Given the description of an element on the screen output the (x, y) to click on. 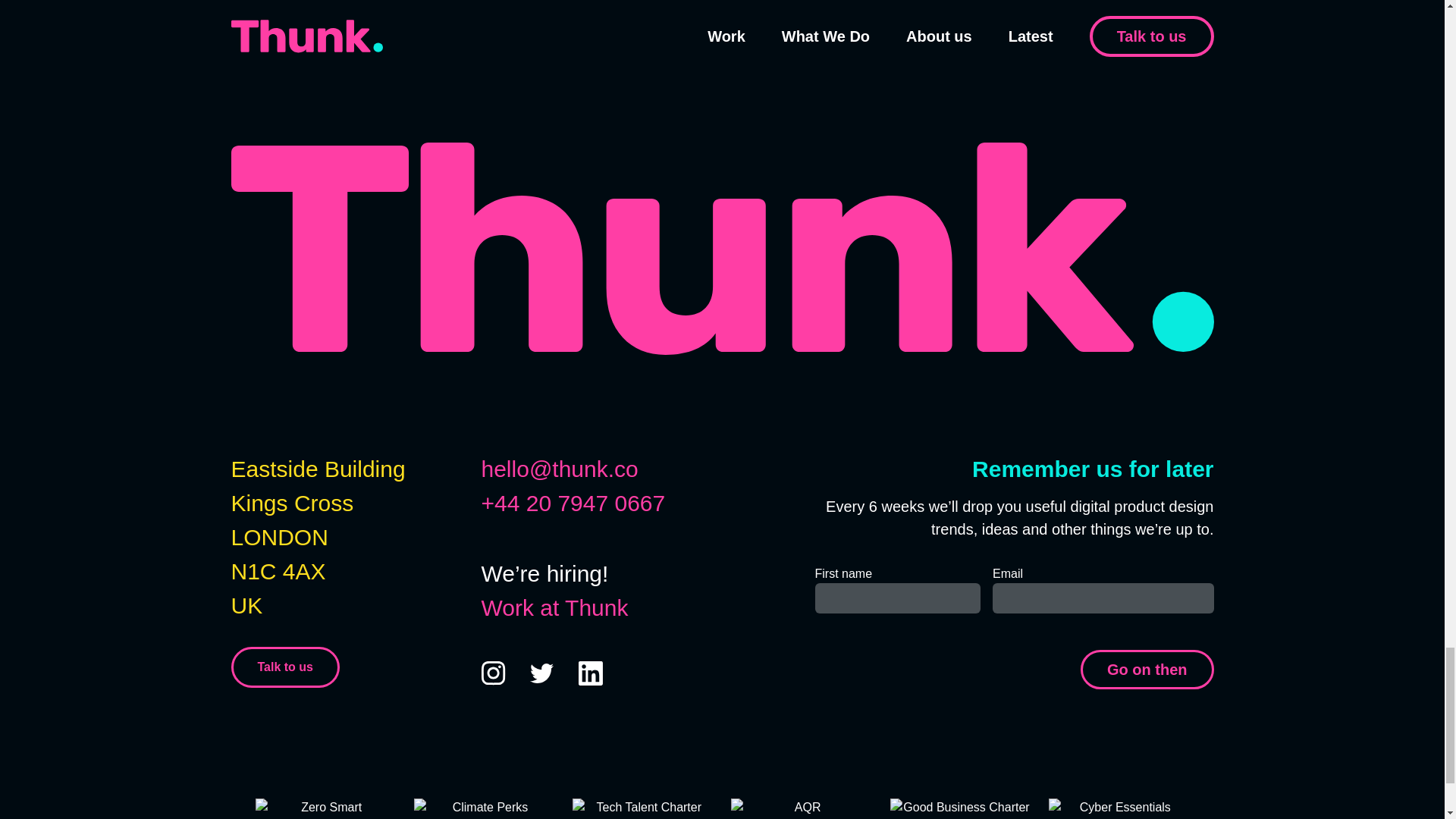
instagram (492, 672)
Work at Thunk (553, 607)
Go on then (1147, 669)
twitter (541, 672)
Go on then (1147, 669)
Talk to us (284, 667)
linkedin (590, 672)
